Given the description of an element on the screen output the (x, y) to click on. 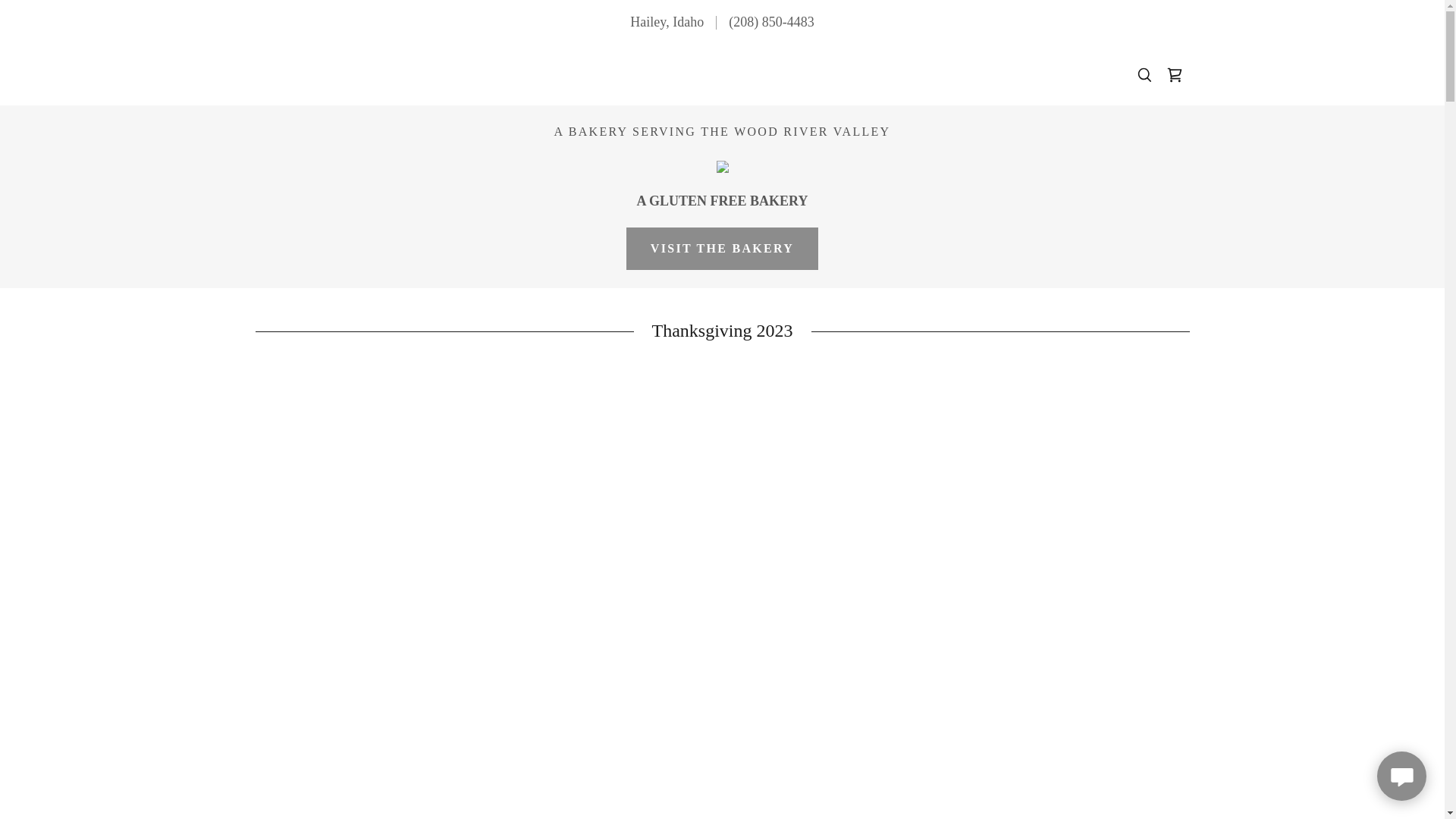
(208) 850-4483 Element type: text (770, 21)
VISIT THE BAKERY Element type: text (722, 248)
